Given the description of an element on the screen output the (x, y) to click on. 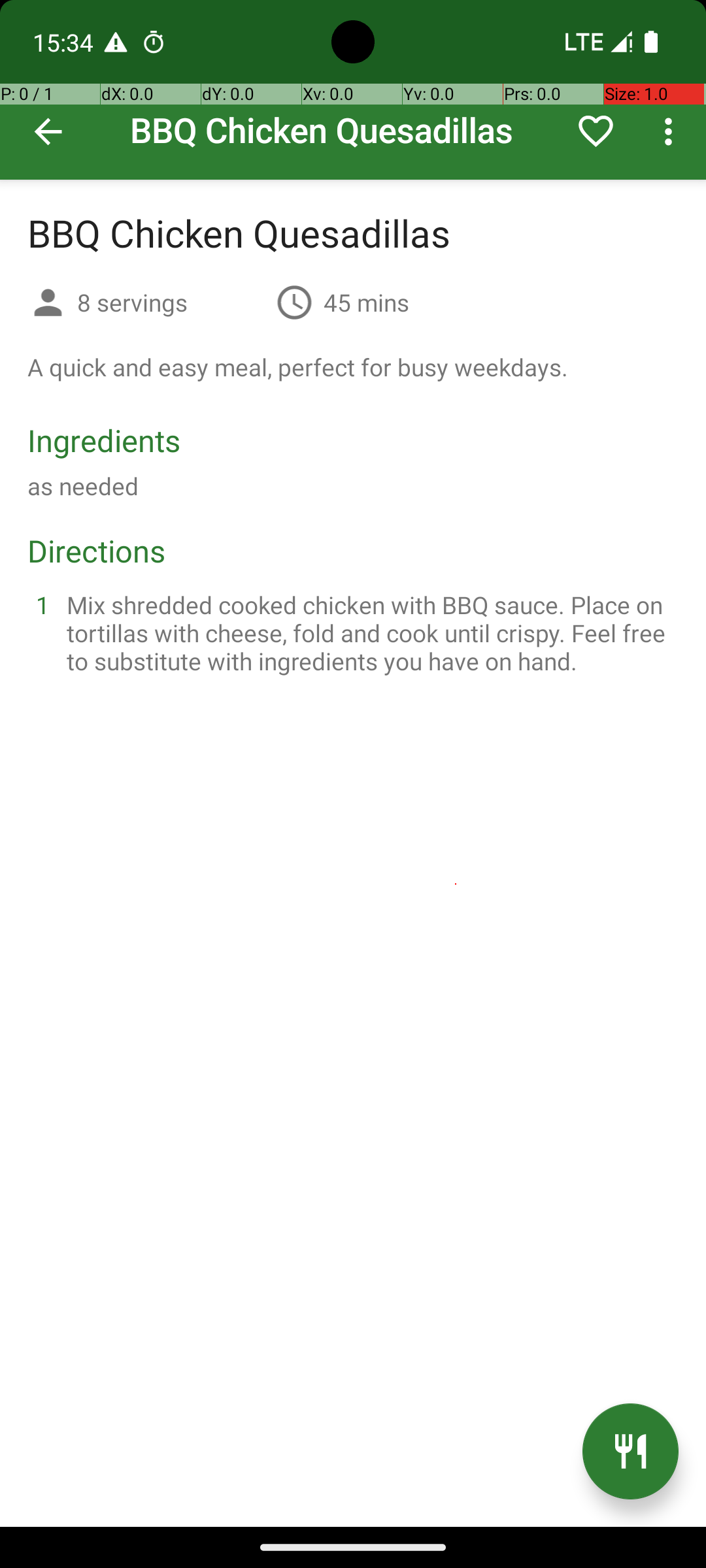
Mix shredded cooked chicken with BBQ sauce. Place on tortillas with cheese, fold and cook until crispy. Feel free to substitute with ingredients you have on hand. Element type: android.widget.TextView (368, 632)
